Given the description of an element on the screen output the (x, y) to click on. 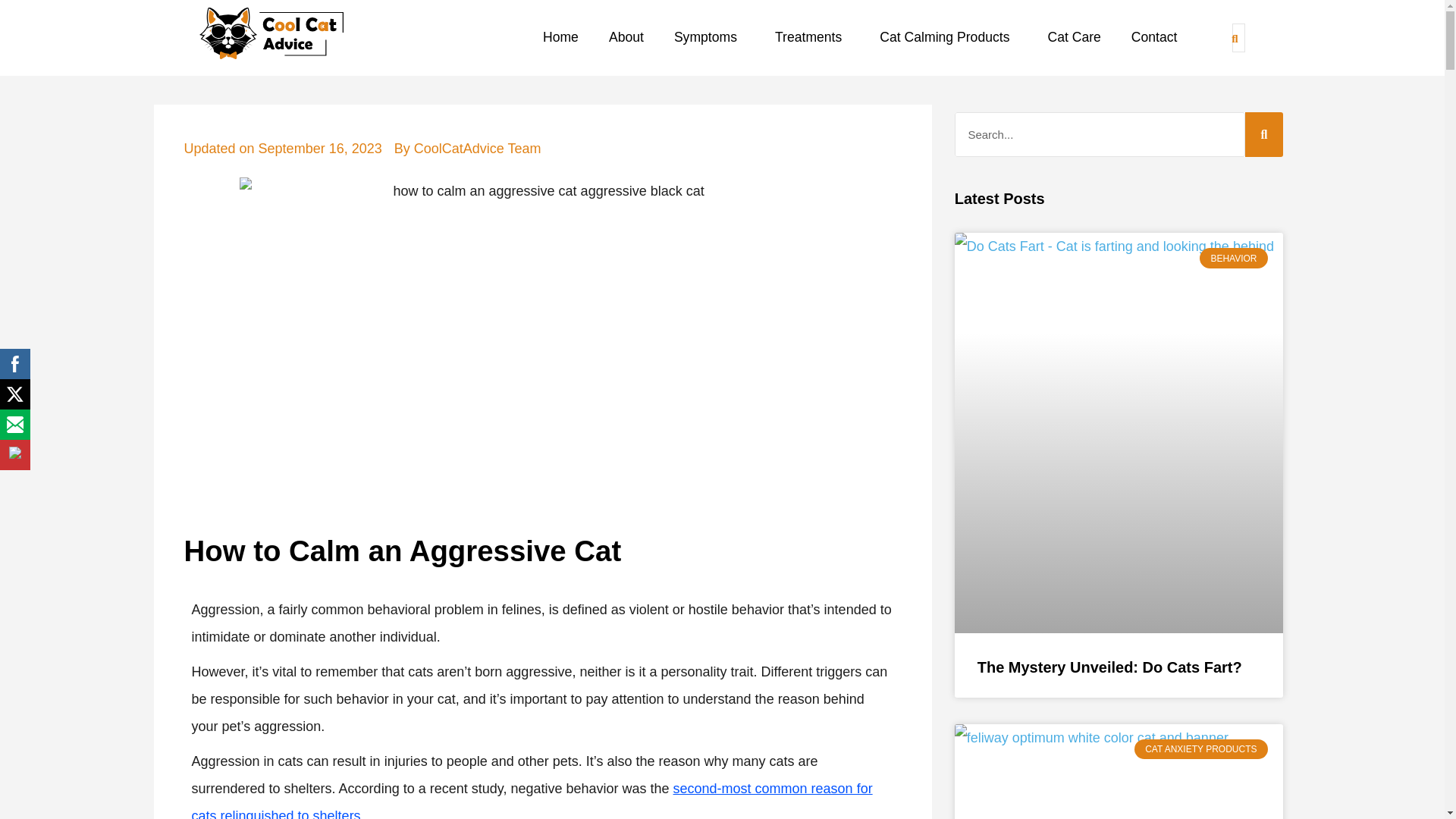
Cat Calming Products (947, 37)
Symptoms (708, 37)
Home (560, 37)
About (625, 37)
Treatments (811, 37)
